Given the description of an element on the screen output the (x, y) to click on. 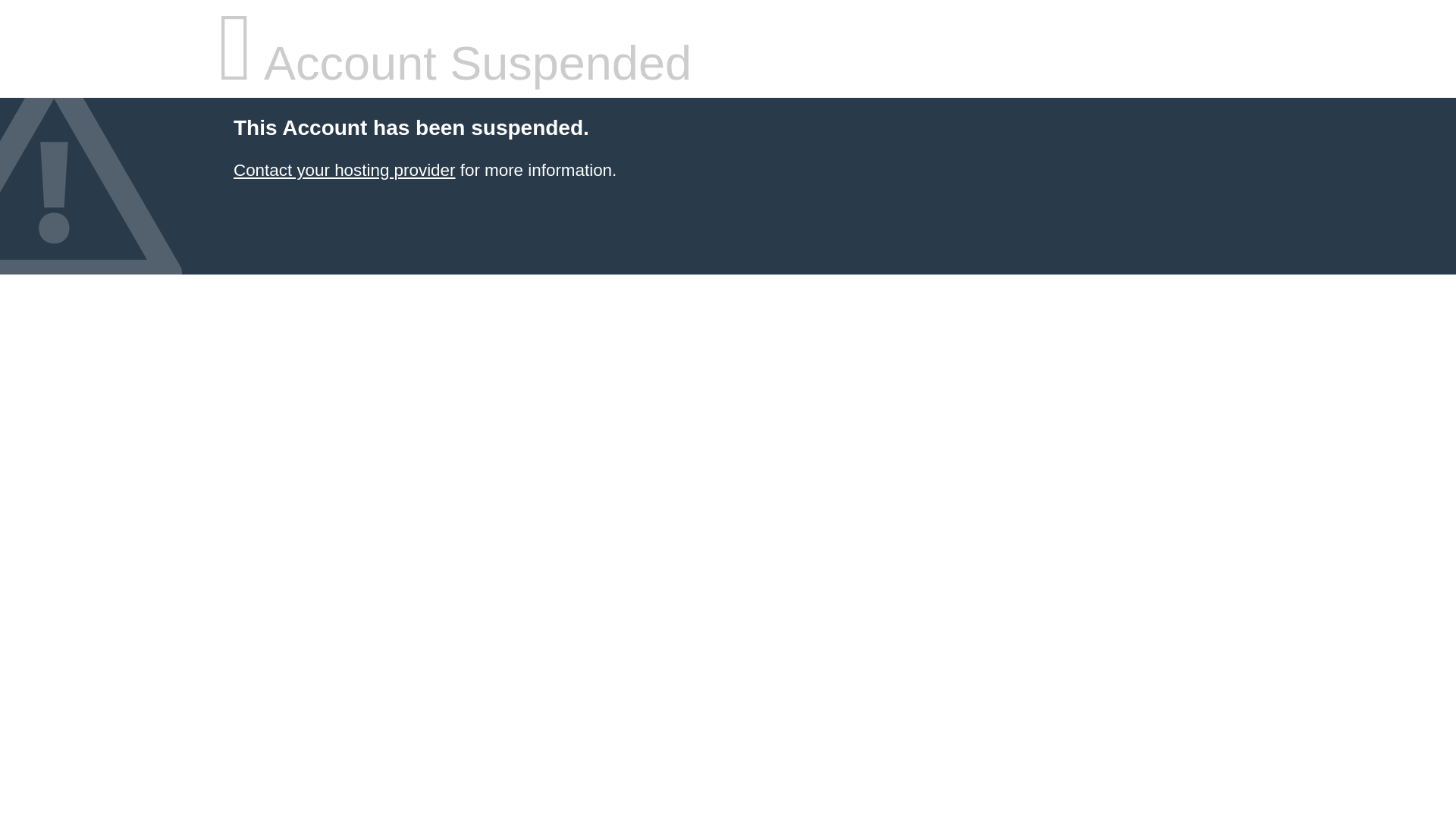
Contact your hosting provider (343, 169)
